Given the description of an element on the screen output the (x, y) to click on. 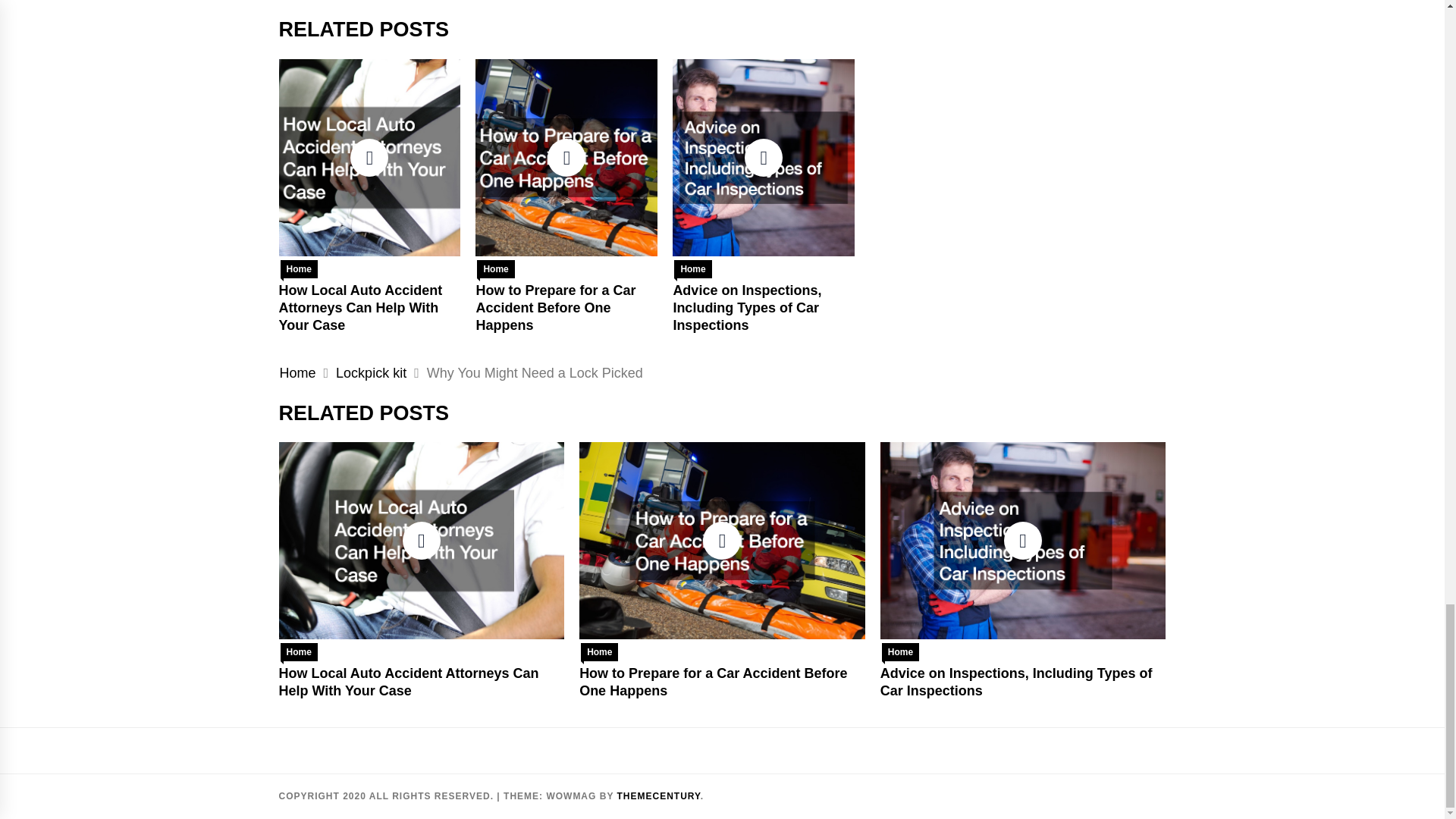
Home (299, 651)
Home (495, 269)
Advice on Inspections, Including Types of Car Inspections (746, 307)
Home (299, 269)
How to Prepare for a Car Accident Before One Happens (555, 307)
Home (297, 372)
Lockpick kit (371, 372)
Home (692, 269)
How Local Auto Accident Attorneys Can Help With Your Case (360, 307)
